Given the description of an element on the screen output the (x, y) to click on. 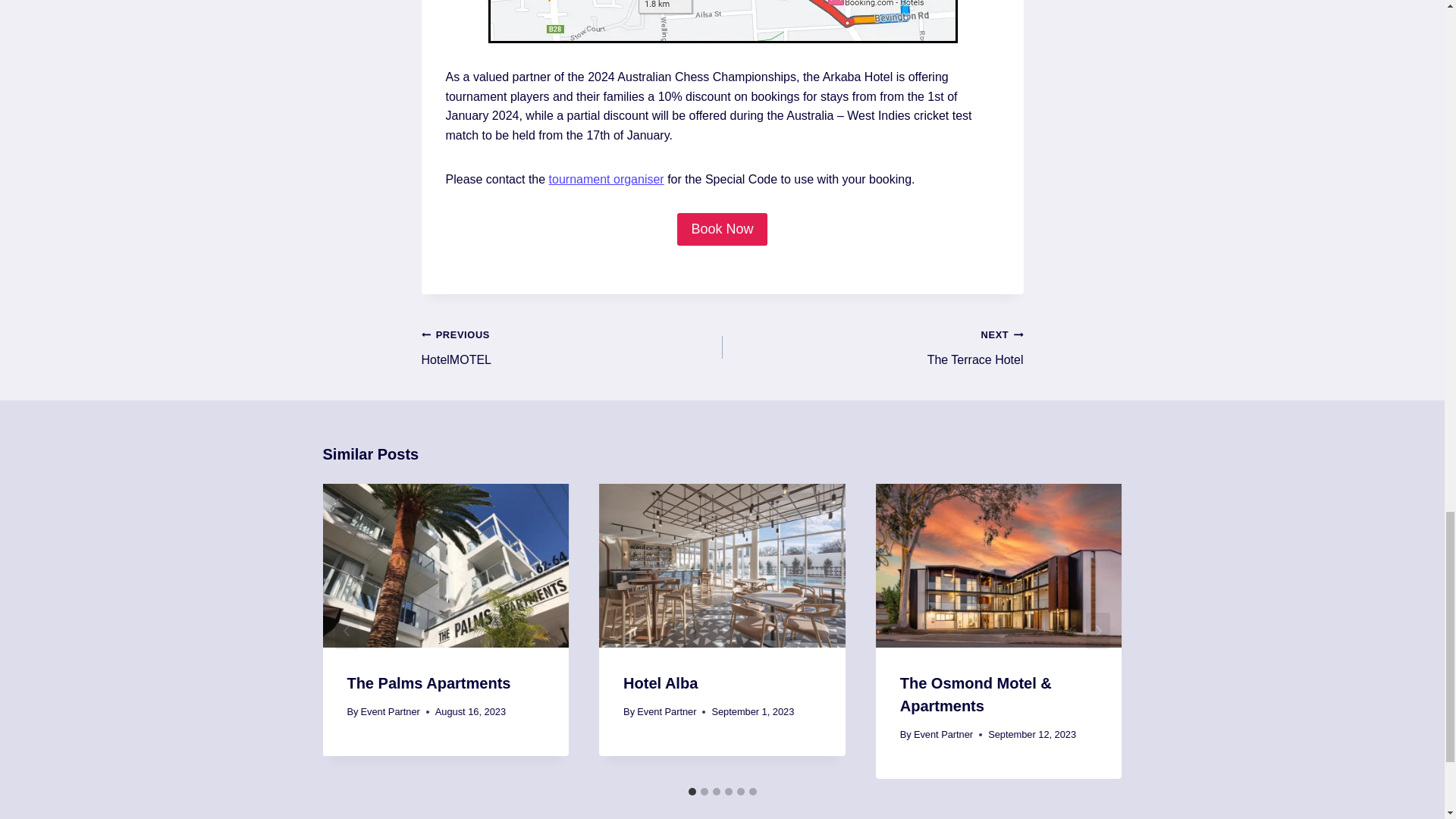
tournament organiser (572, 346)
Book Now (605, 178)
